Given the description of an element on the screen output the (x, y) to click on. 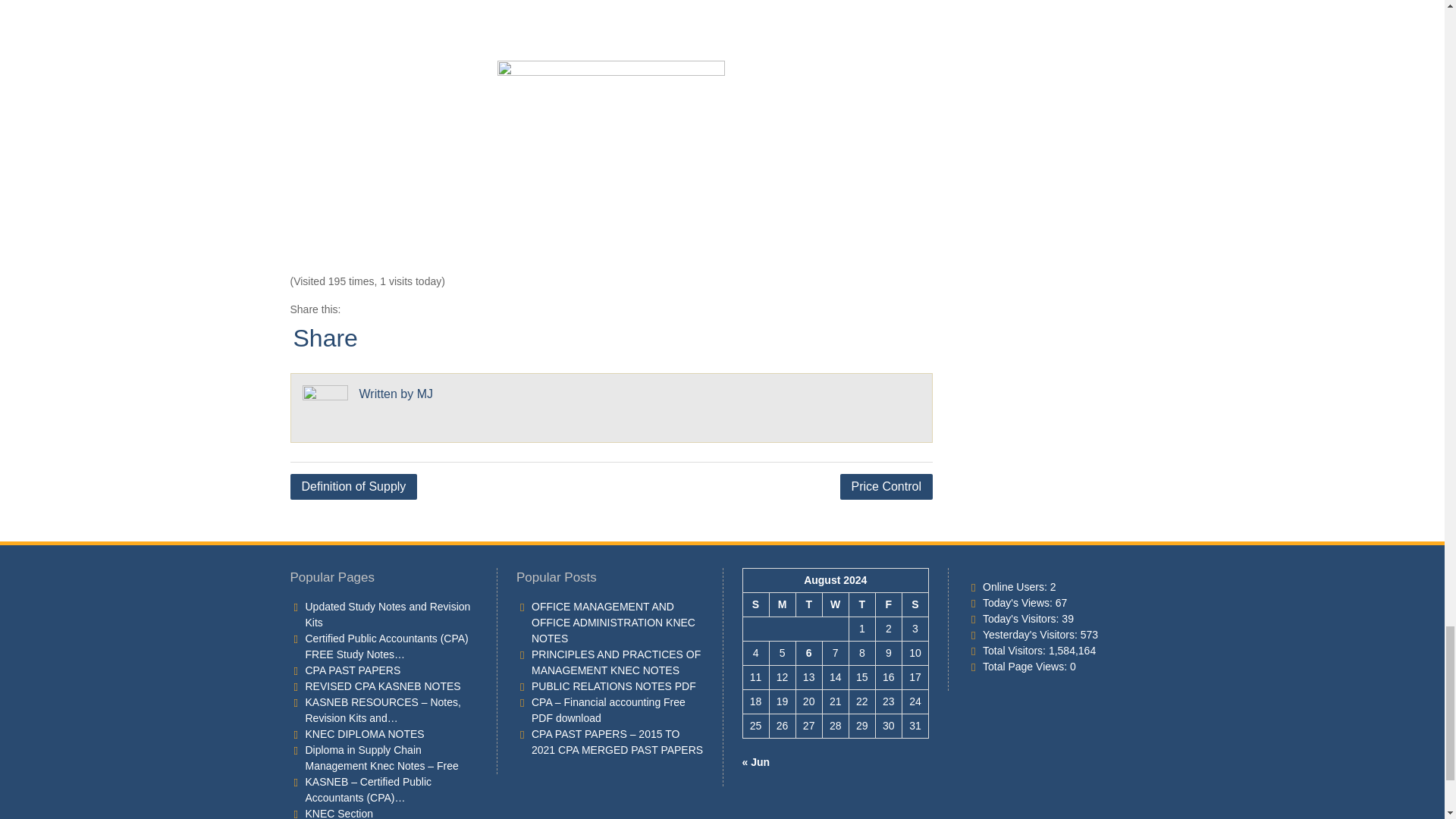
Posts by MJ (424, 393)
MJ (424, 393)
Share (324, 337)
Definition of Supply (352, 486)
Wednesday (835, 604)
Friday (888, 604)
Price Control (886, 486)
Tuesday (808, 604)
Saturday (914, 604)
Monday (781, 604)
